Given the description of an element on the screen output the (x, y) to click on. 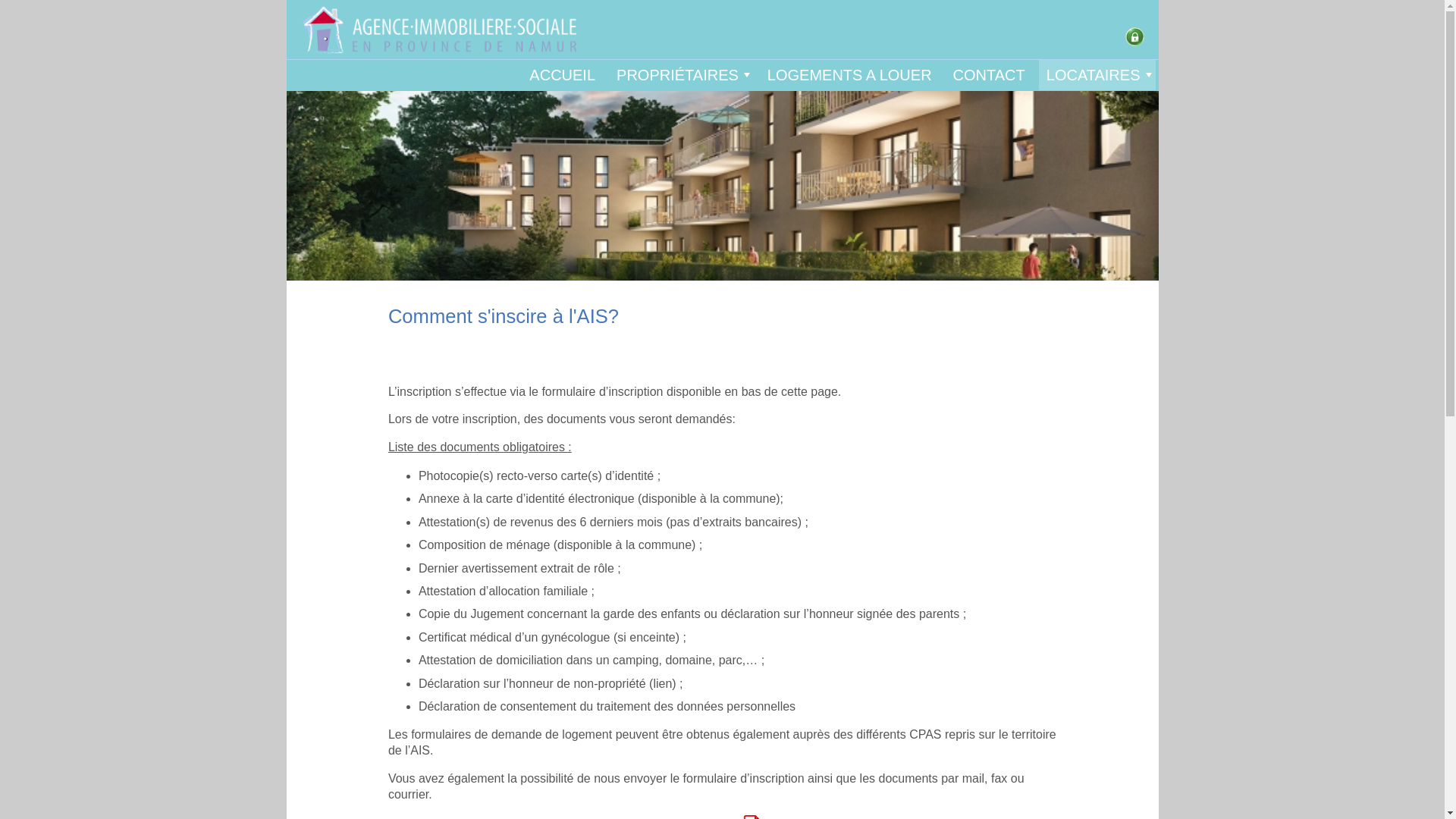
LOCATAIRES Element type: text (1096, 74)
title_tag Element type: hover (1134, 36)
LOGEMENTS A LOUER Element type: text (849, 74)
CONTACT Element type: text (988, 74)
ACCUEIL Element type: text (561, 74)
